Given the description of an element on the screen output the (x, y) to click on. 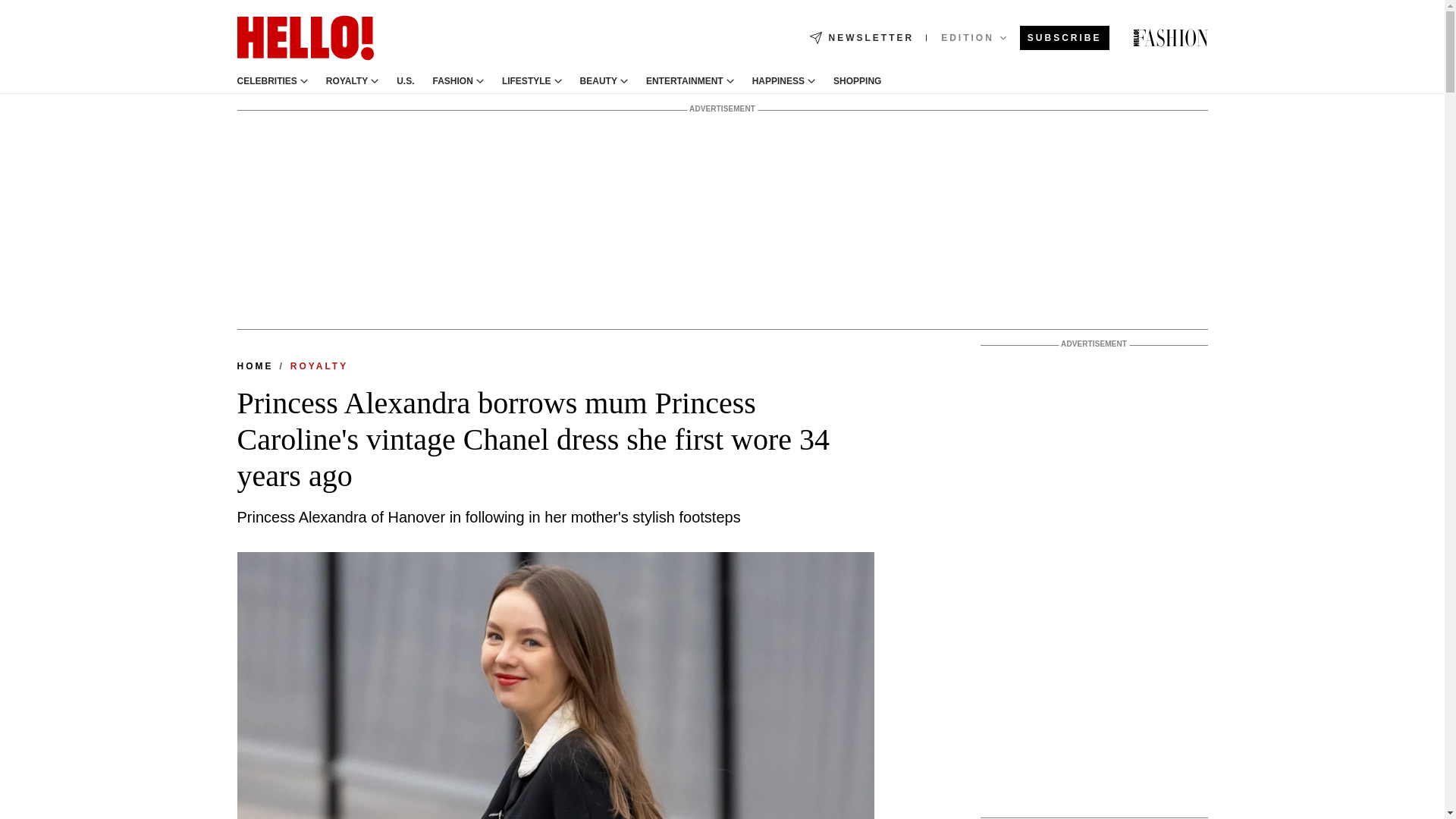
FASHION (452, 81)
BEAUTY (598, 81)
U.S. (404, 81)
NEWSLETTER (861, 38)
ROYALTY (347, 81)
CELEBRITIES (266, 81)
